Given the description of an element on the screen output the (x, y) to click on. 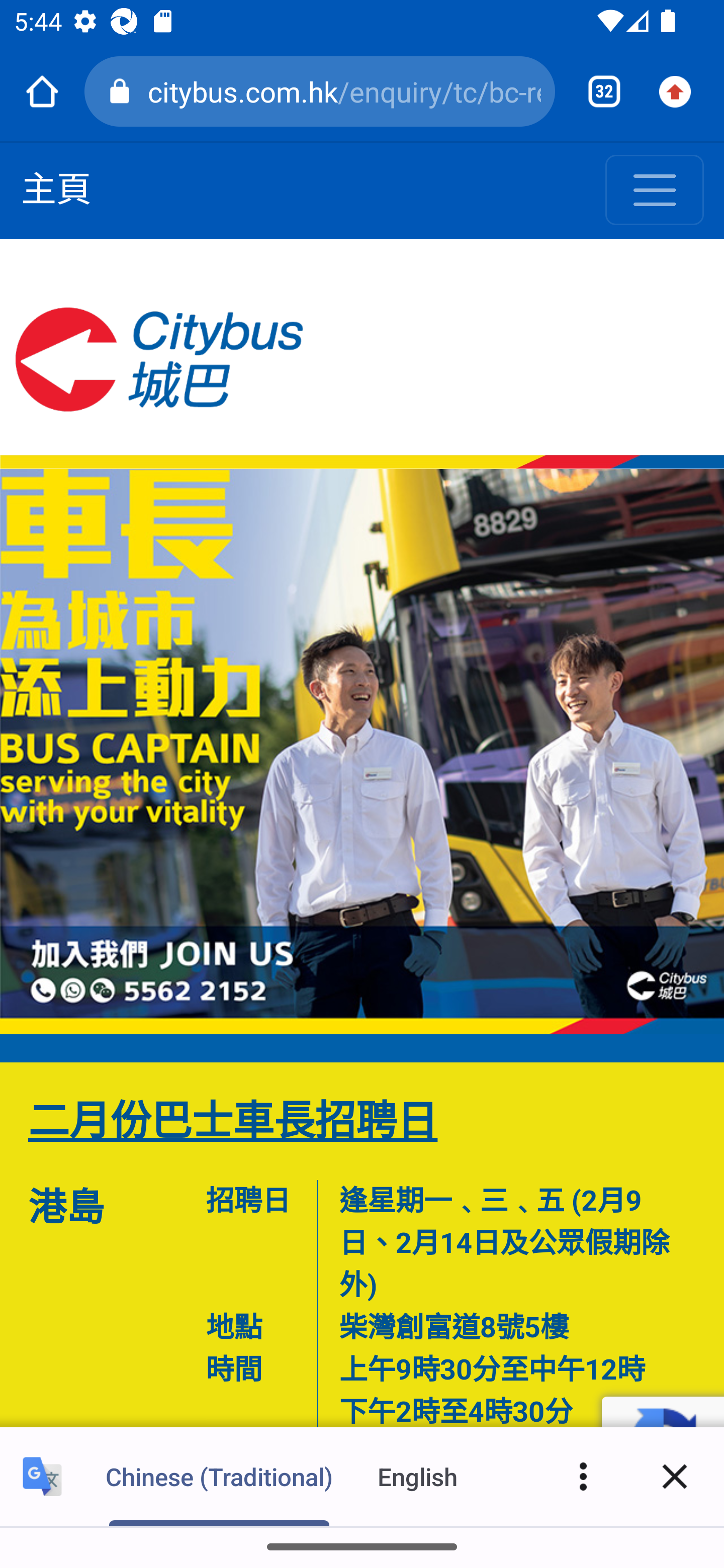
Home (42, 91)
Connection is secure (122, 91)
Switch or close tabs (597, 91)
Update available. More options (681, 91)
主頁 (56, 191)
Toggle navigation (655, 191)
English (417, 1475)
More options (582, 1475)
Close (674, 1475)
